Given the description of an element on the screen output the (x, y) to click on. 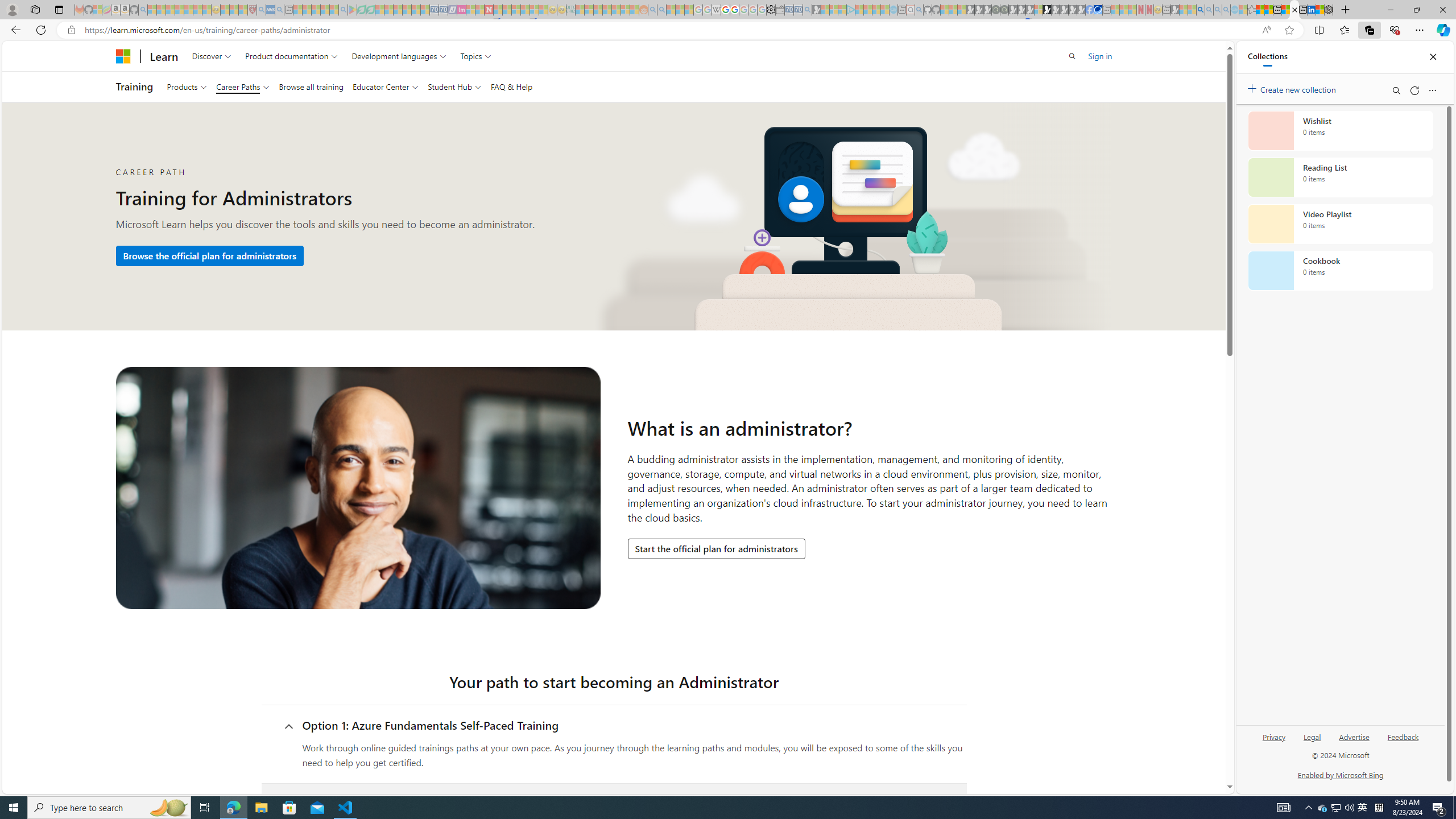
Aberdeen, Hong Kong SAR weather forecast | Microsoft Weather (1268, 9)
Video Playlist collection, 0 items (1339, 223)
Training for Administrators | Microsoft Learn (1294, 9)
Cookbook collection, 0 items (1339, 270)
Career Paths (243, 86)
Browse all training (310, 86)
